Given the description of an element on the screen output the (x, y) to click on. 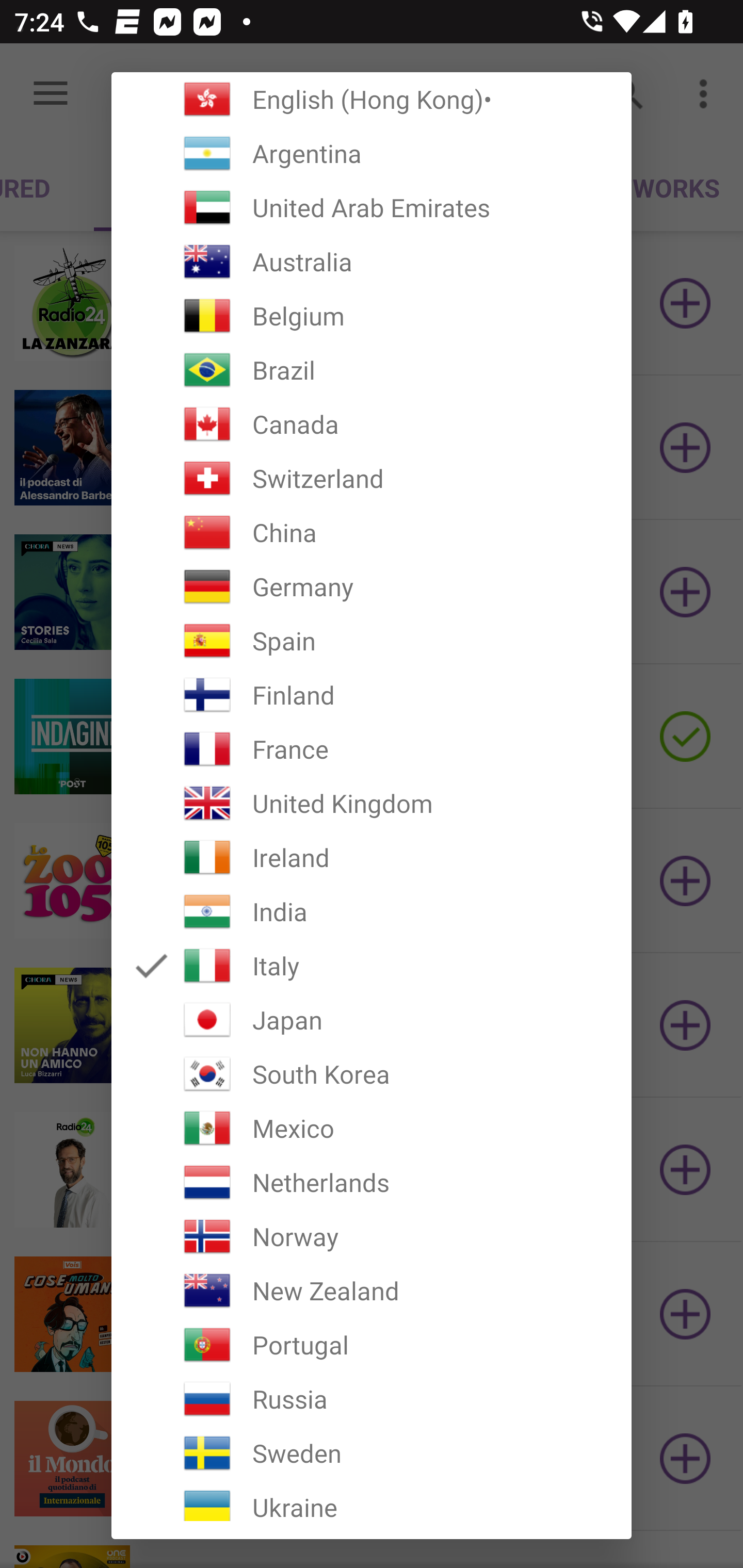
English (Hong Kong)• (371, 99)
Argentina (371, 153)
United Arab Emirates (371, 207)
Australia (371, 261)
Belgium (371, 315)
Brazil (371, 369)
Canada (371, 423)
Switzerland (371, 477)
China (371, 531)
Germany (371, 586)
Spain (371, 640)
Finland (371, 694)
France (371, 749)
United Kingdom (371, 803)
Ireland (371, 857)
India (371, 911)
Italy (371, 965)
Japan (371, 1019)
South Korea (371, 1073)
Mexico (371, 1127)
Netherlands (371, 1181)
Norway (371, 1235)
New Zealand (371, 1290)
Portugal (371, 1344)
Russia (371, 1399)
Sweden (371, 1453)
Ukraine (371, 1500)
